Given the description of an element on the screen output the (x, y) to click on. 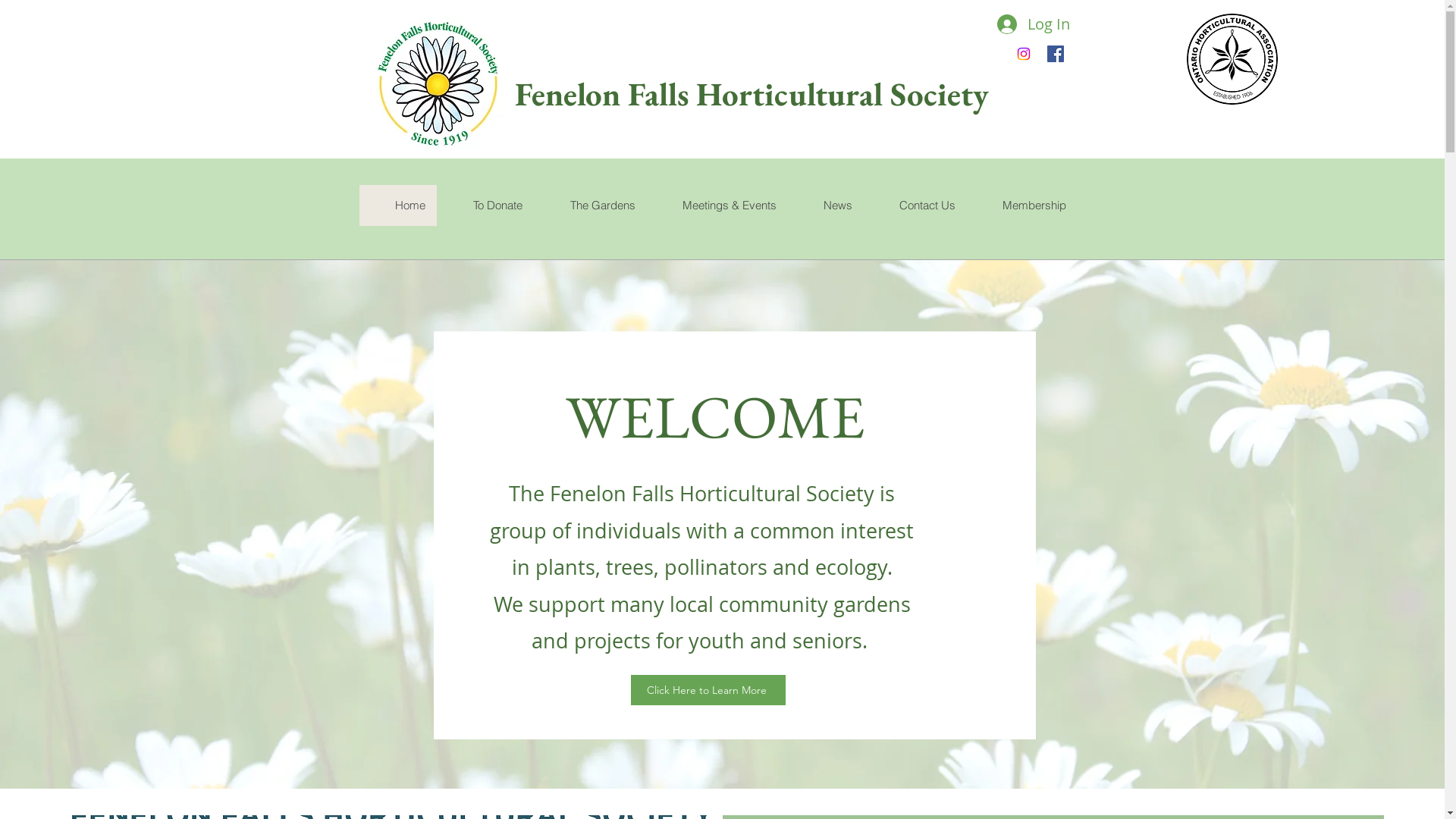
Home Element type: text (397, 205)
Meetings & Events Element type: text (716, 205)
Contact Us Element type: text (914, 205)
The Gardens Element type: text (589, 205)
ffhs-logo 2019.jpg Element type: hover (437, 84)
Click Here to Learn More Element type: text (707, 689)
Membership Element type: text (1021, 205)
News Element type: text (824, 205)
Log In Element type: text (1030, 24)
To Donate Element type: text (484, 205)
